Given the description of an element on the screen output the (x, y) to click on. 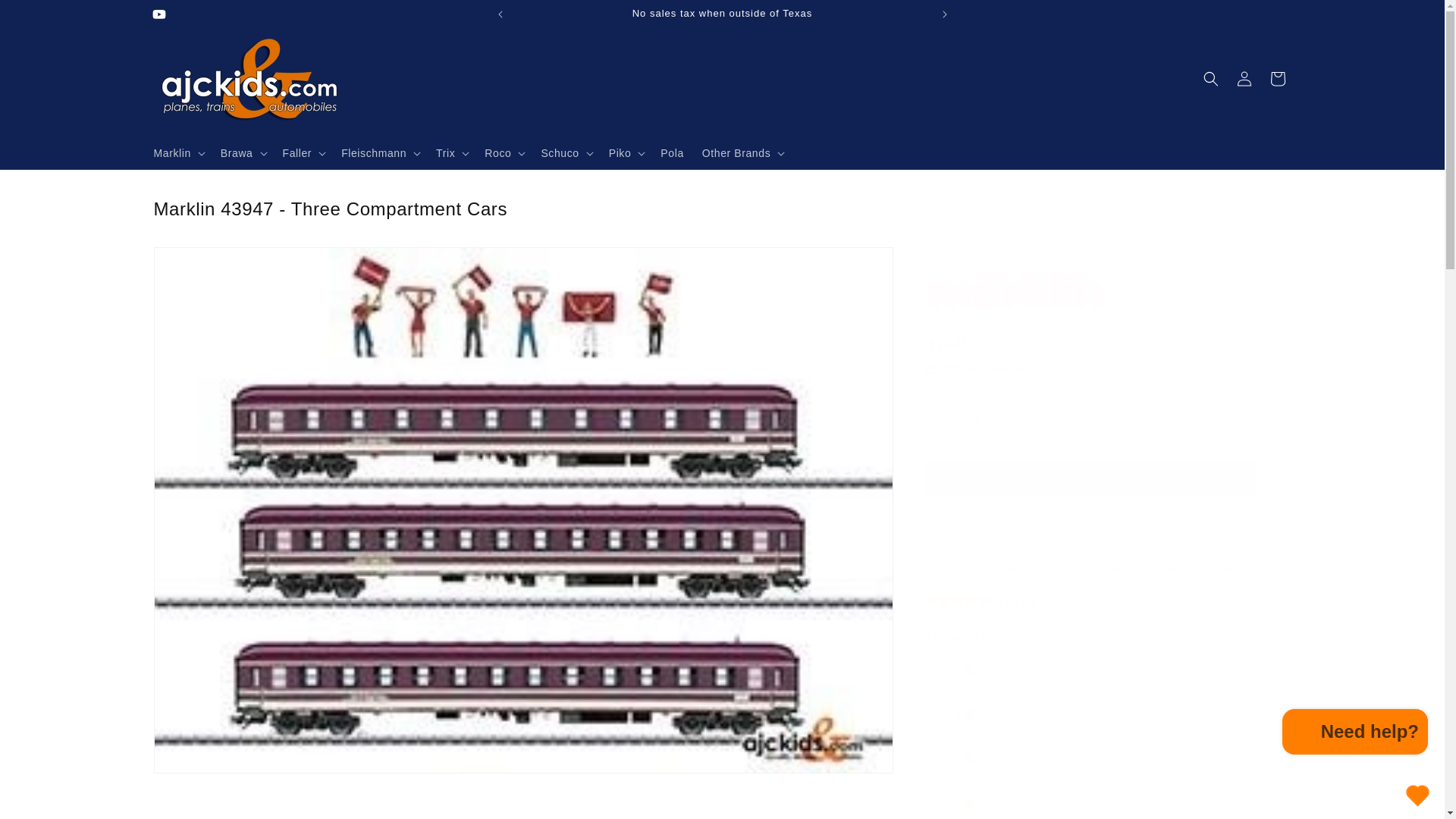
1 (976, 423)
Shopify online store chat (1355, 733)
Wishlist (1416, 795)
Order your Museum Cars for 2024 (1157, 14)
Marklin (1015, 288)
YouTube (158, 14)
Skip to content (45, 17)
